Given the description of an element on the screen output the (x, y) to click on. 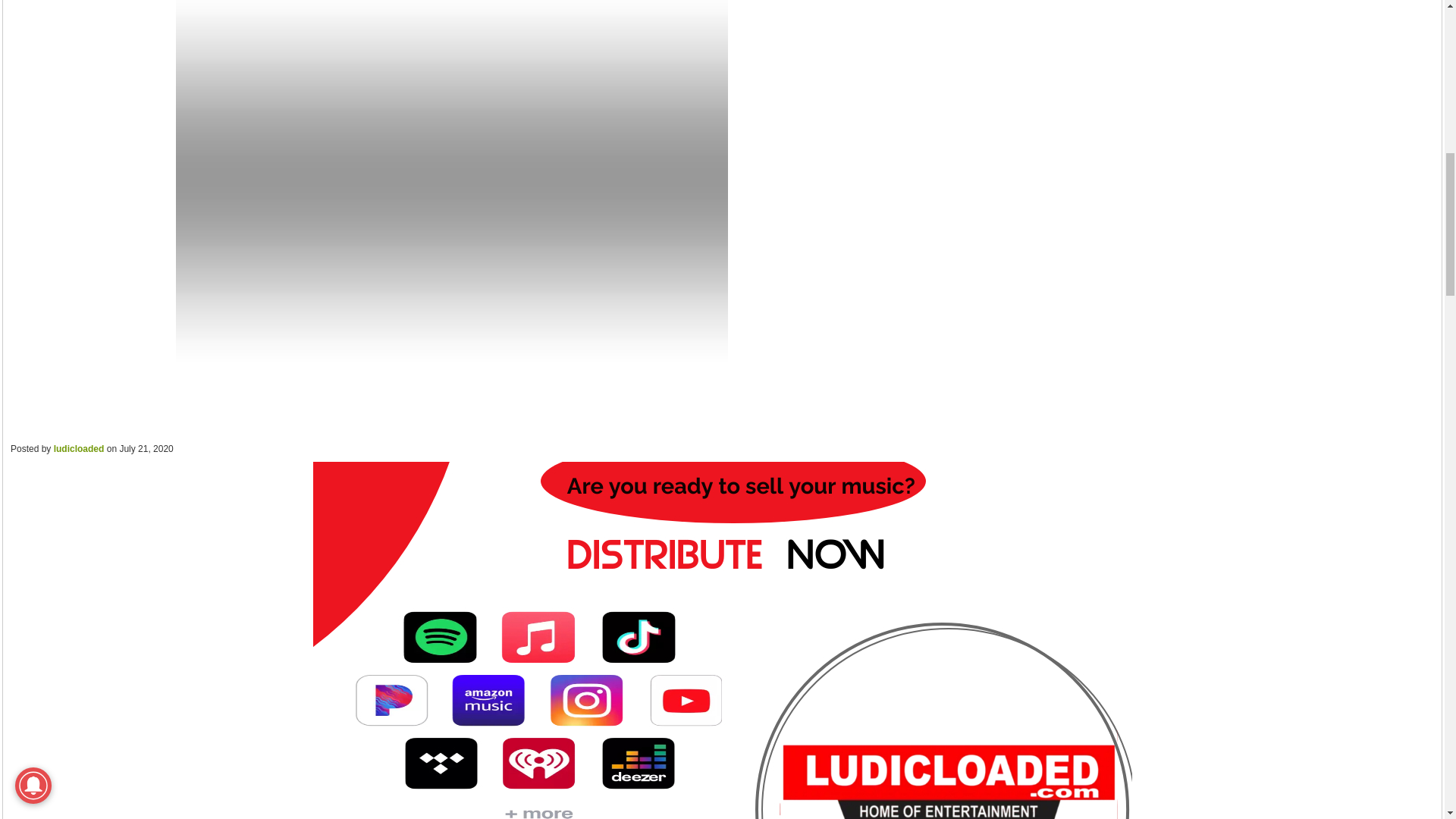
Posts by ludicloaded (78, 448)
ludicloaded (78, 448)
